Given the description of an element on the screen output the (x, y) to click on. 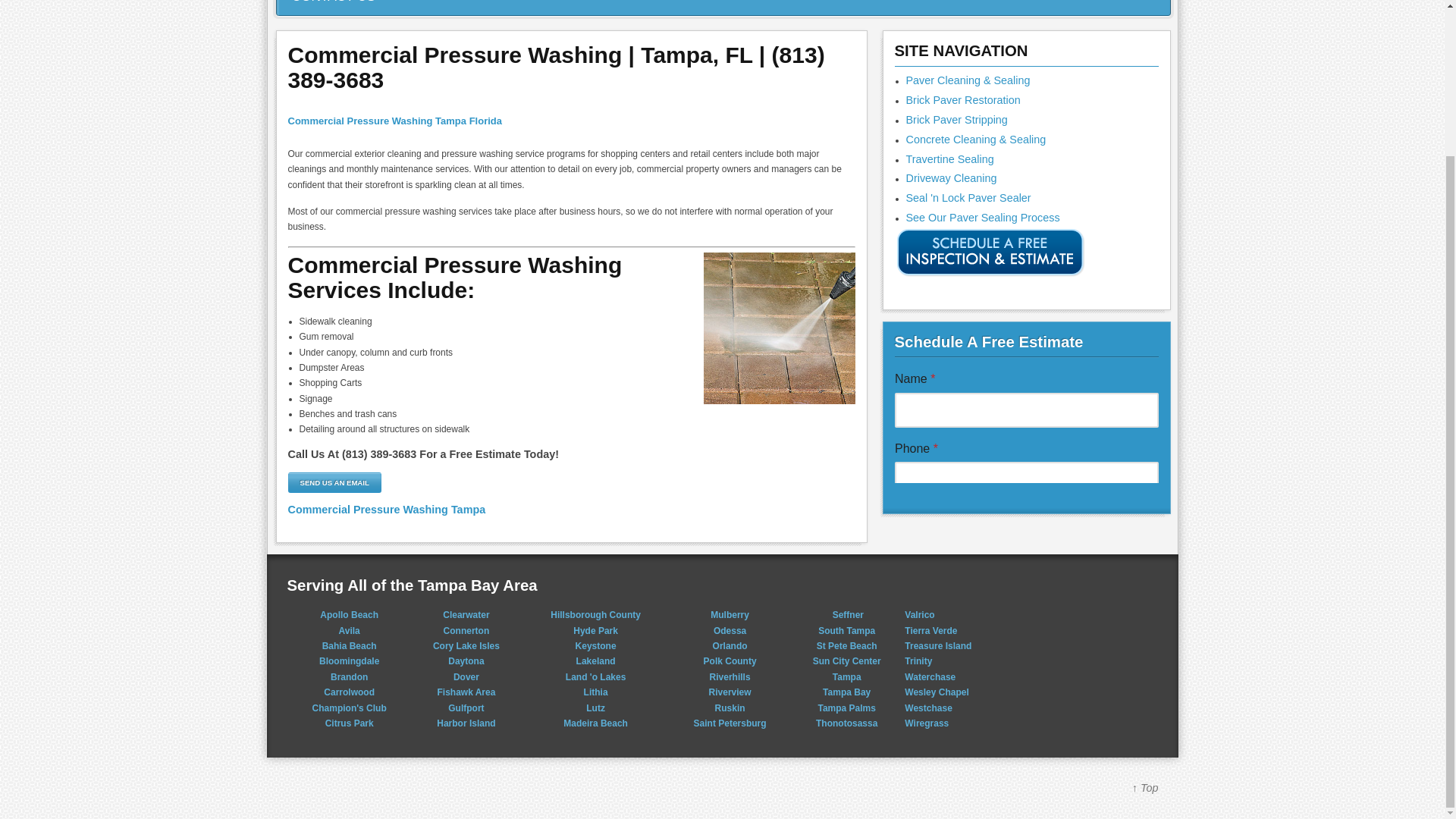
free estimate paver sealing (990, 253)
driveway cleaning tampa brandon riverview (950, 177)
Tampa Lakeland Concrete Cleaning Sealing (975, 139)
Tampa Commercial Pressure Washing (387, 509)
Citrus Park (349, 723)
Brandon Brick Paver and Travertine Cleaning Sealing (349, 676)
Brick Paver Sealing Tampa Florida (967, 80)
Travertine Sealing Company Tampa (948, 159)
See Our Paver Sealing Process (982, 217)
Paver Sealing Estimate (990, 275)
